Given the description of an element on the screen output the (x, y) to click on. 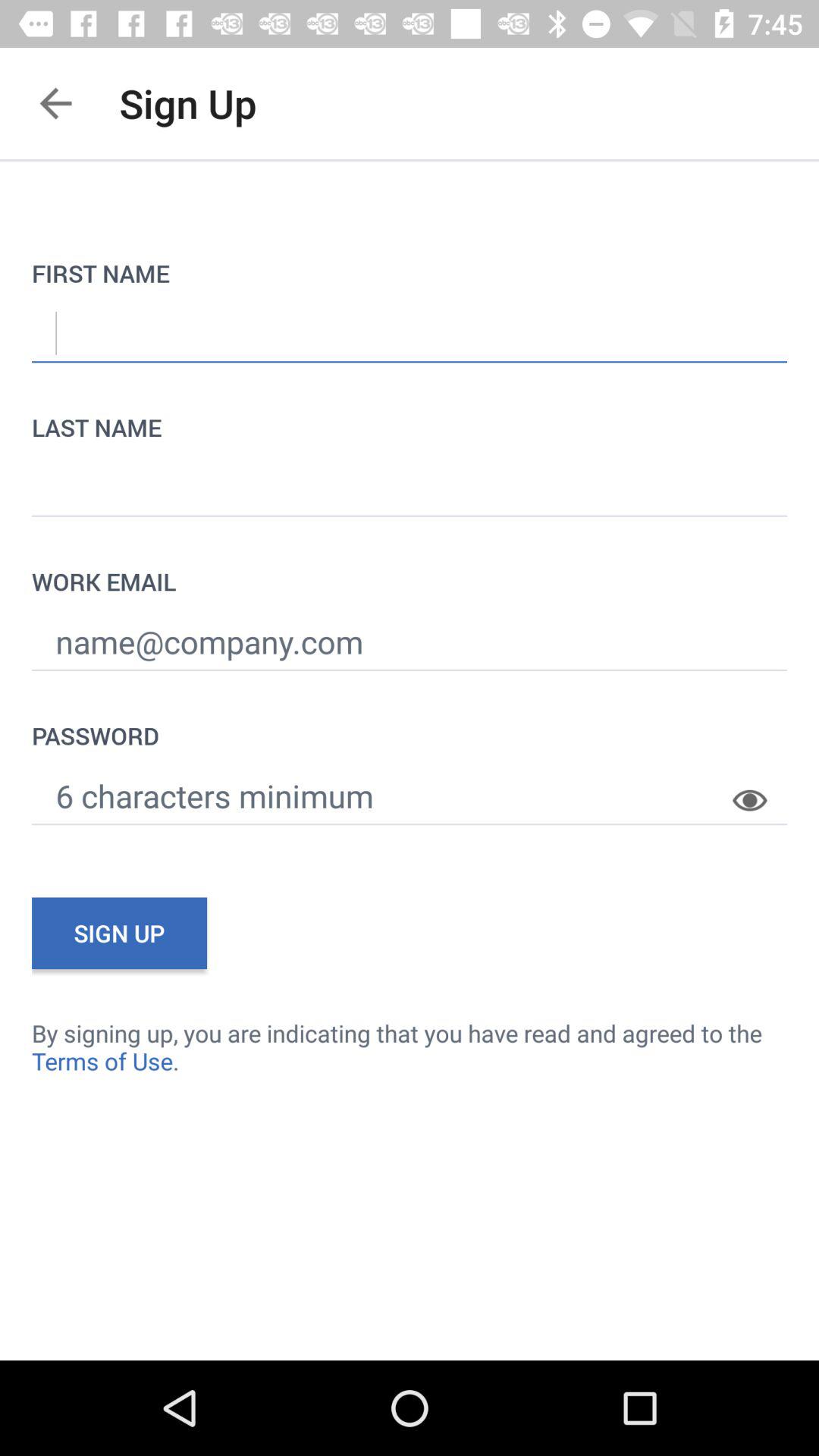
launch the item on the right (759, 788)
